Given the description of an element on the screen output the (x, y) to click on. 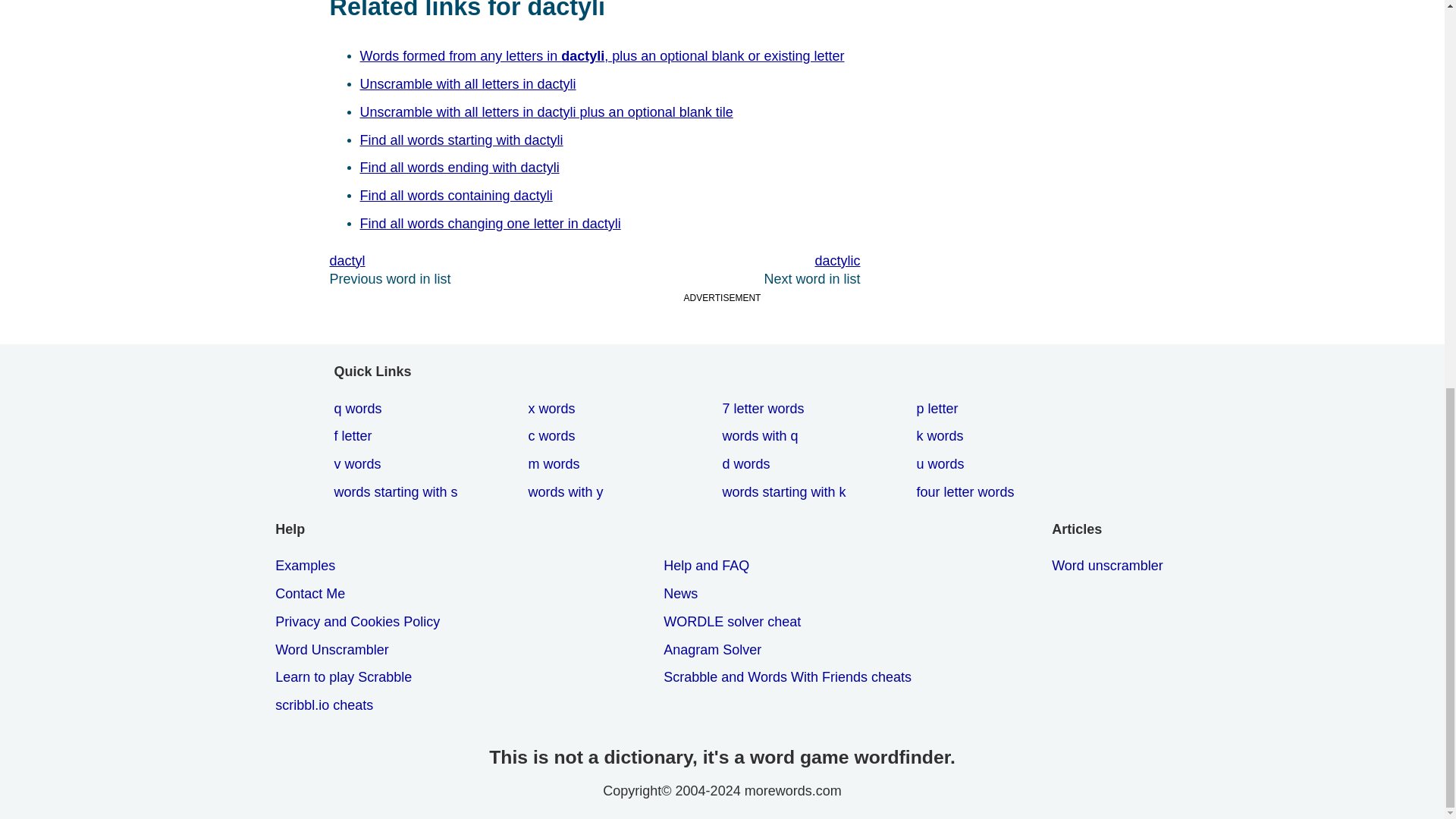
Unscramble with all letters in dactyli (469, 84)
p letter (939, 408)
7 letter words (765, 408)
Find all words starting with dactyli (464, 140)
m words (556, 464)
c words (553, 436)
words with q (762, 436)
dactyl (461, 261)
u words (942, 464)
v words (360, 464)
Next word in list (727, 261)
dactylic (727, 261)
four letter words (967, 492)
x words (553, 408)
